Given the description of an element on the screen output the (x, y) to click on. 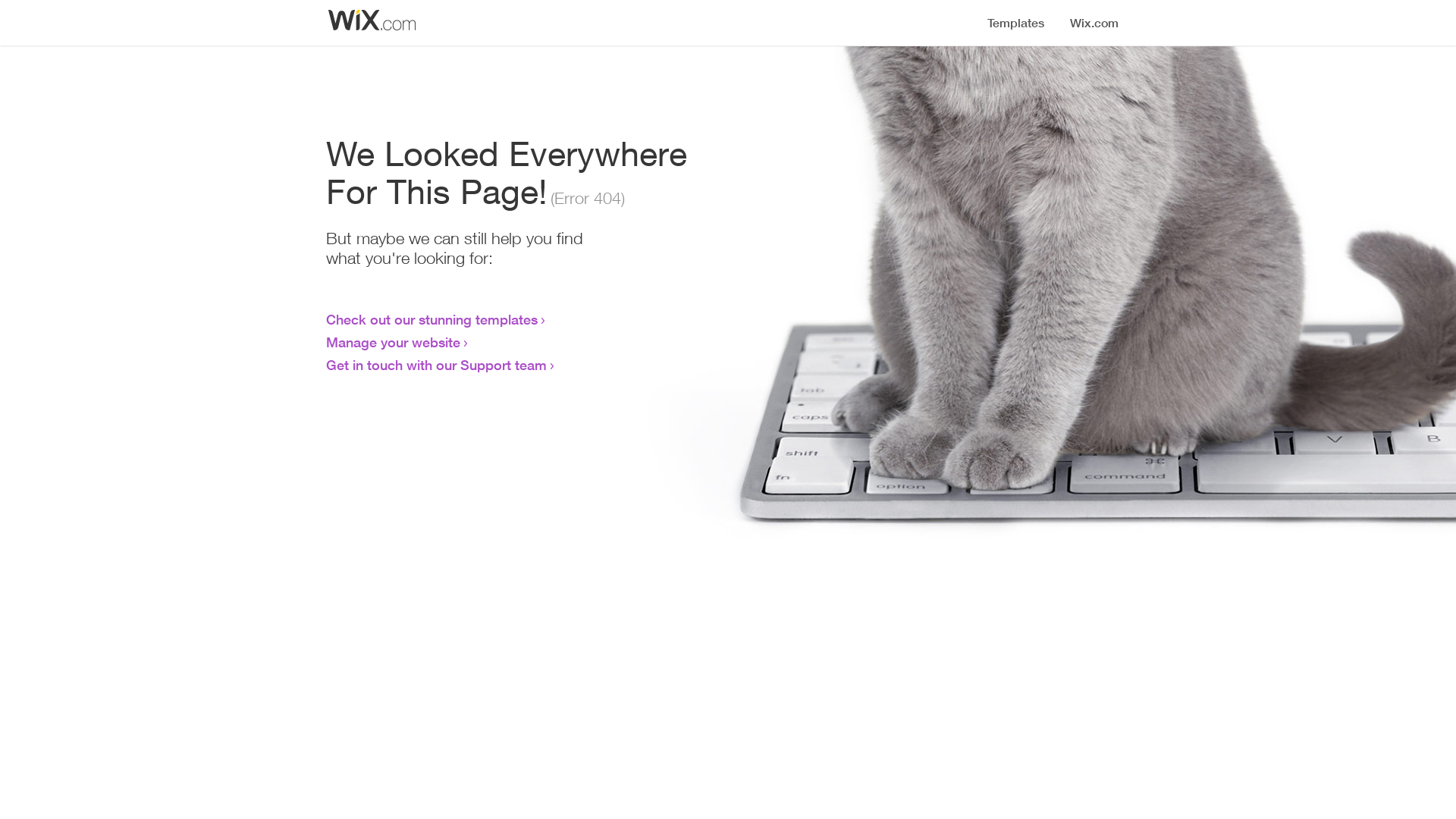
Get in touch with our Support team Element type: text (436, 364)
Manage your website Element type: text (393, 341)
Check out our stunning templates Element type: text (431, 318)
